Given the description of an element on the screen output the (x, y) to click on. 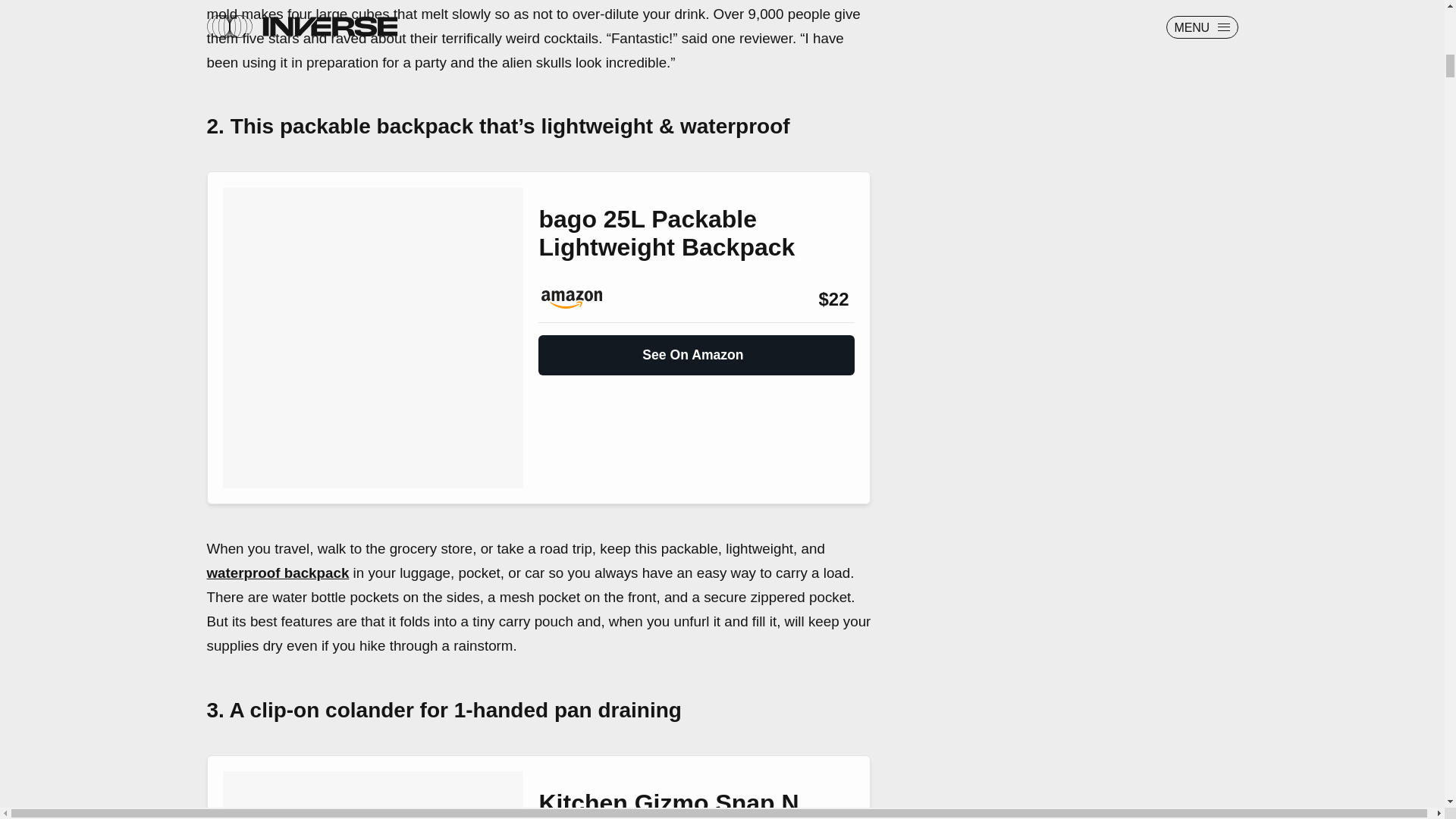
Amazon (579, 299)
See On Amazon (696, 348)
waterproof backpack (277, 572)
